Given the description of an element on the screen output the (x, y) to click on. 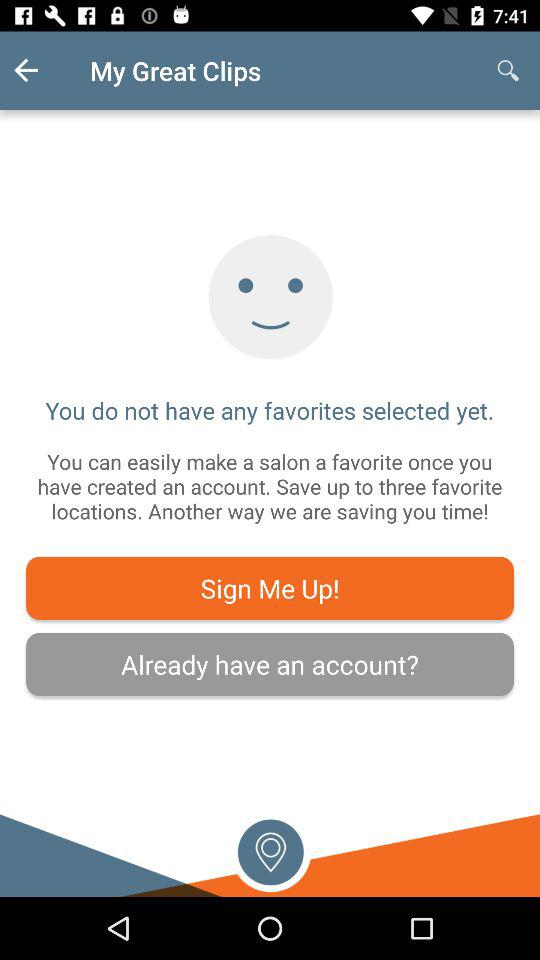
open the item below already have an item (270, 850)
